Given the description of an element on the screen output the (x, y) to click on. 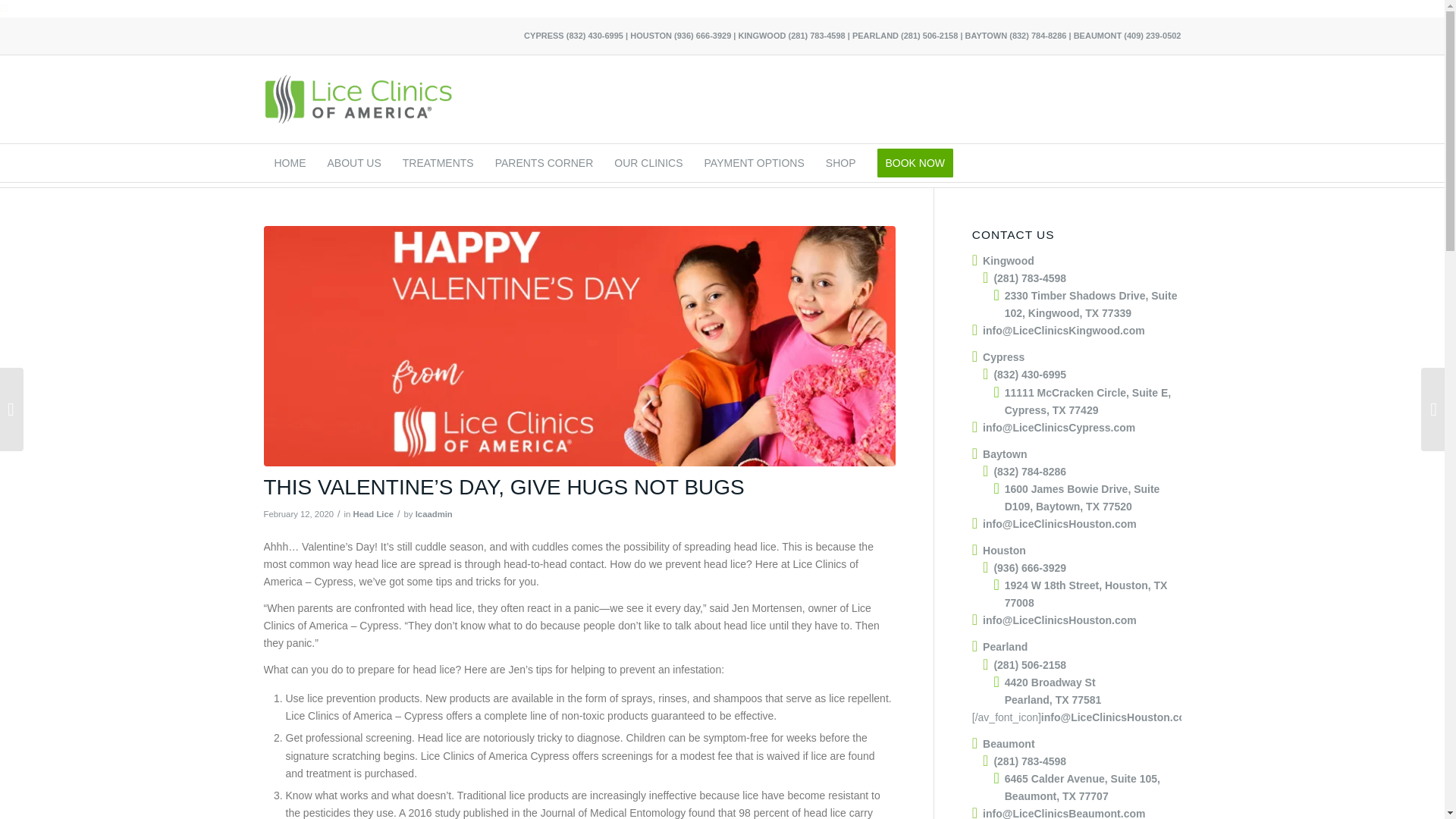
SHOP (840, 162)
lcaadmin (433, 513)
TREATMENTS (437, 162)
Head Lice (373, 513)
PAYMENT OPTIONS (754, 162)
OUR CLINICS (648, 162)
ABOUT US (354, 162)
BOOK NOW (914, 162)
PARENTS CORNER (544, 162)
